Given the description of an element on the screen output the (x, y) to click on. 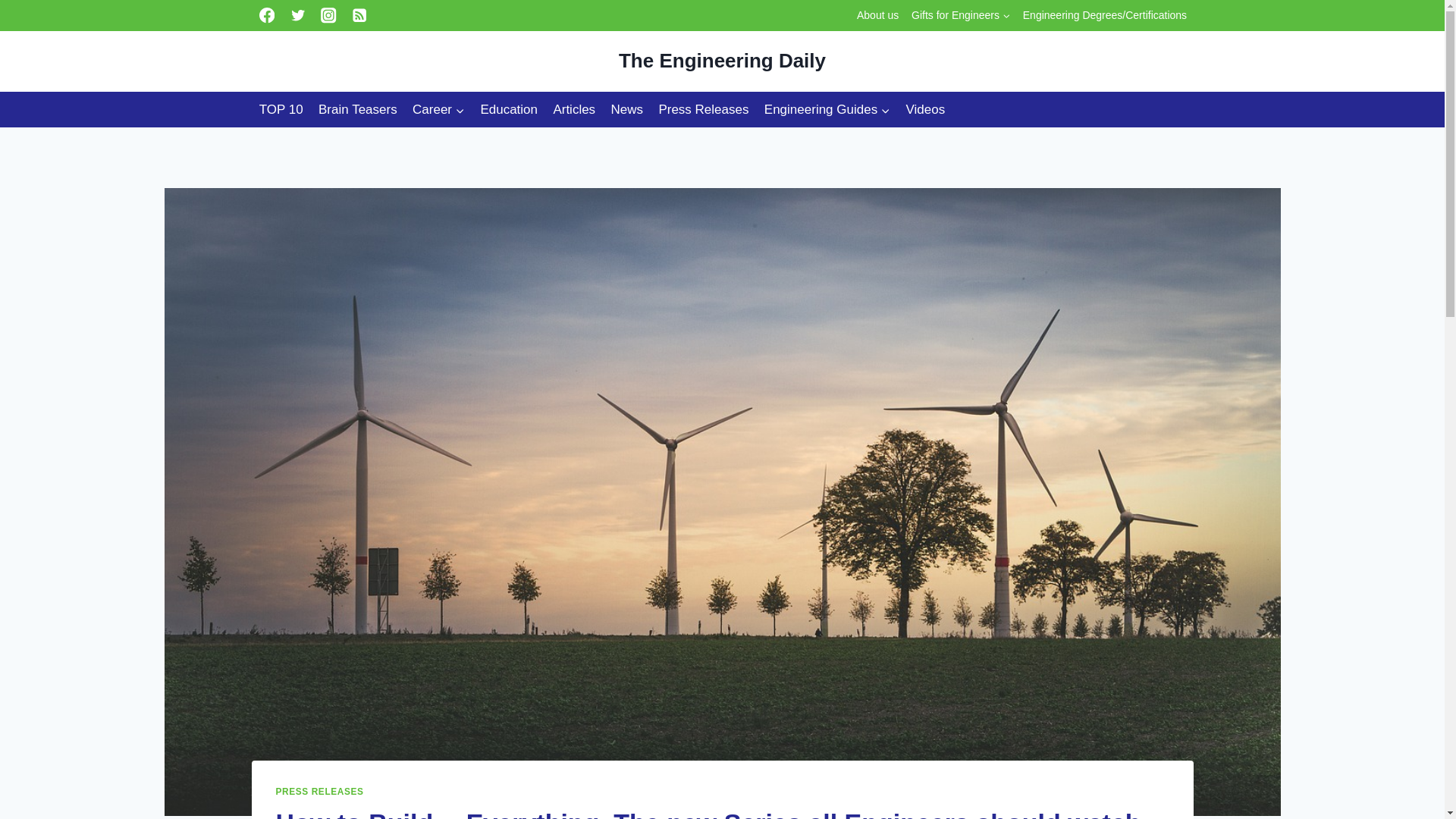
Engineering Guides (827, 109)
About us (877, 15)
Engineering Degree Programs (1104, 15)
Education (507, 109)
Videos (925, 109)
Articles (573, 109)
Brain Teasers (357, 109)
TOP 10 (281, 109)
Gifts for Engineers (960, 15)
Career (437, 109)
